Given the description of an element on the screen output the (x, y) to click on. 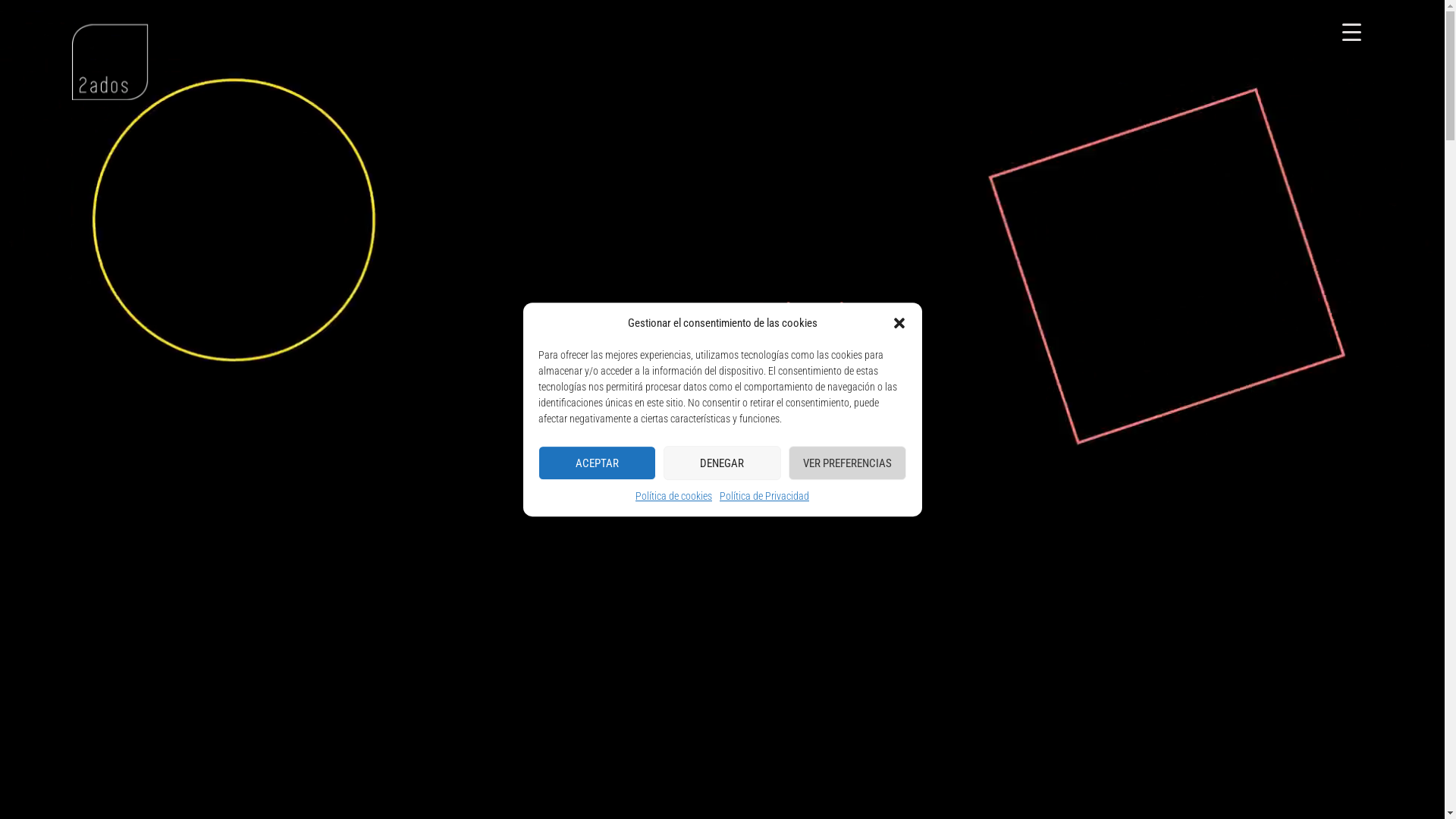
2ados Element type: text (109, 62)
DENEGAR Element type: text (722, 462)
ACEPTAR Element type: text (596, 462)
VER PREFERENCIAS Element type: text (847, 462)
